Given the description of an element on the screen output the (x, y) to click on. 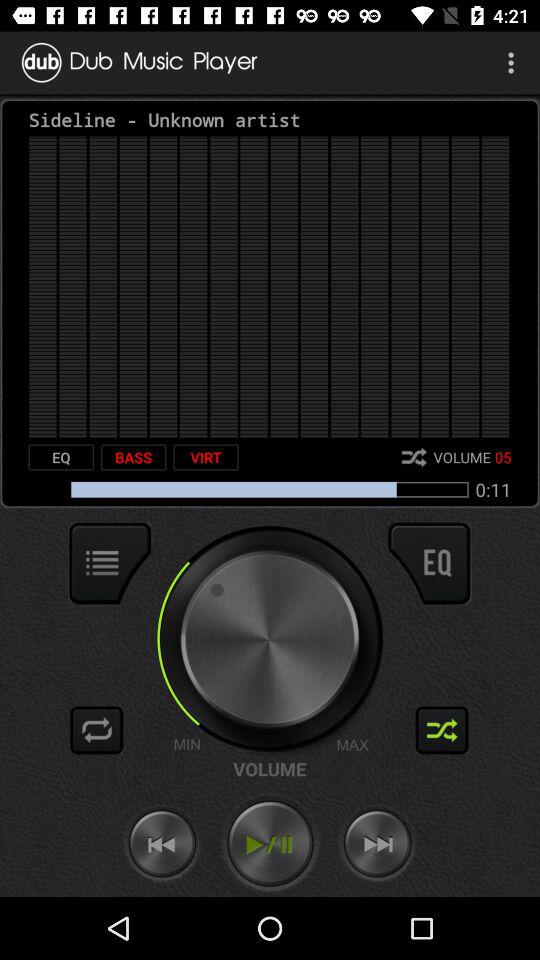
next track (377, 844)
